Given the description of an element on the screen output the (x, y) to click on. 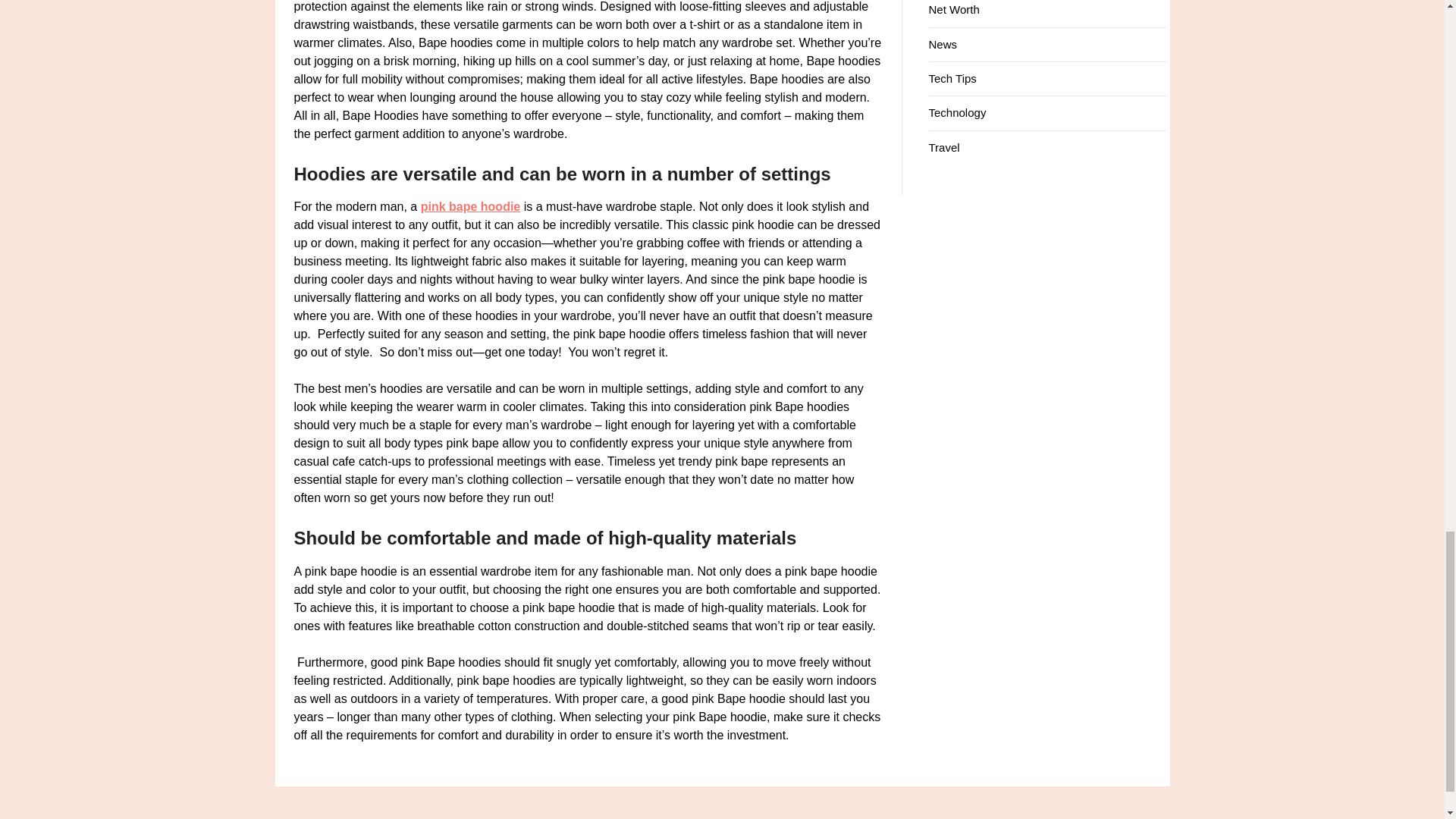
pink bape hoodie (470, 205)
